Given the description of an element on the screen output the (x, y) to click on. 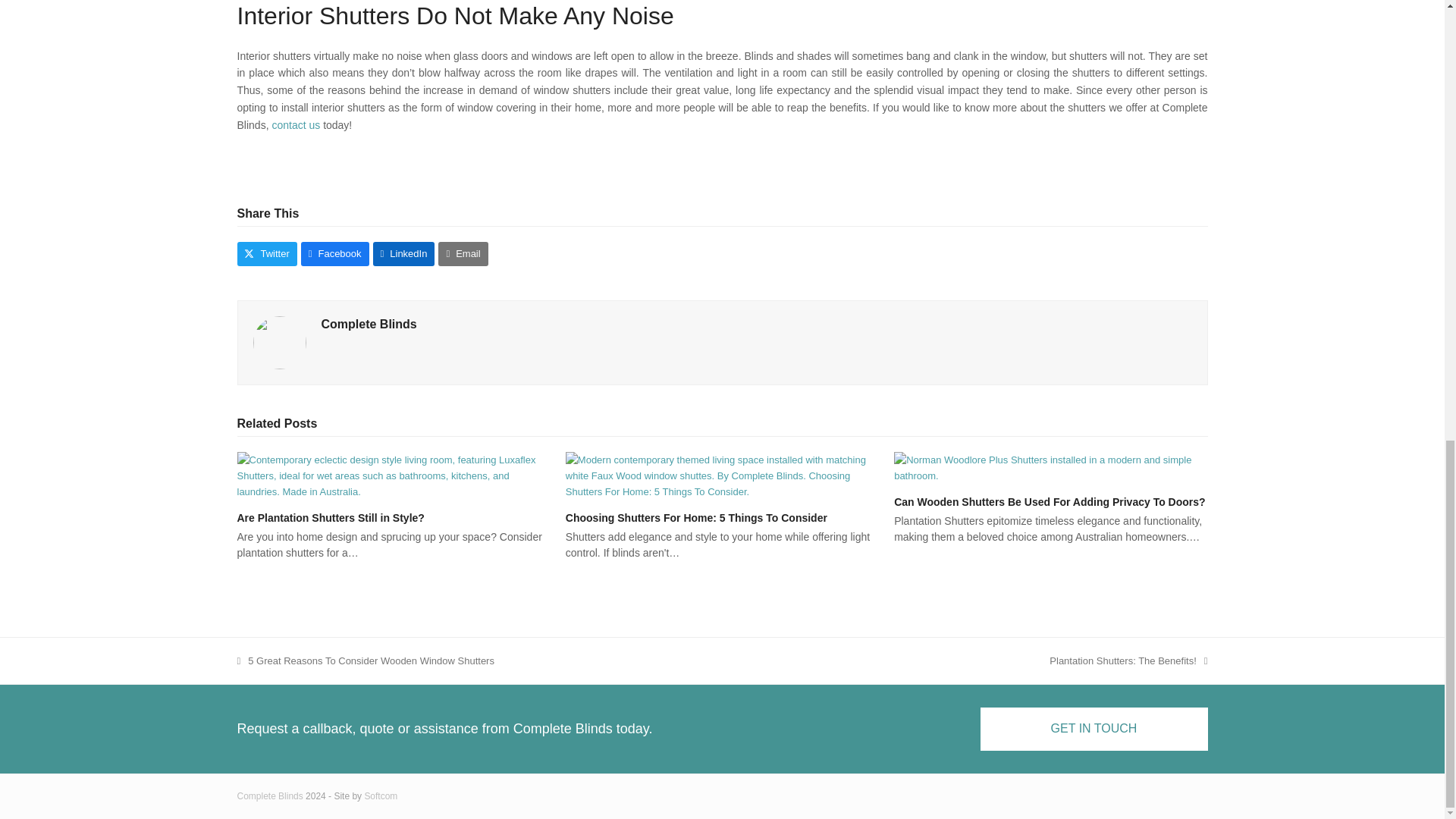
GET IN TOUCH (1093, 728)
Choosing Shutters For Home: 5 Things To Consider (696, 517)
Can Wooden Shutters Be Used For Adding Privacy To Doors? (1049, 501)
Are Plantation Shutters Still in Style? (329, 517)
Twitter (266, 253)
contact us (296, 124)
Are Plantation Shutters Still in Style? (392, 474)
Choosing Shutters For Home: 5 Things To Consider (1128, 660)
Can Wooden Shutters Be Used For Adding Privacy To Doors? (722, 474)
Email (1050, 466)
LinkedIn (462, 253)
Contact Complete Blinds Today (403, 253)
Facebook (296, 124)
